Given the description of an element on the screen output the (x, y) to click on. 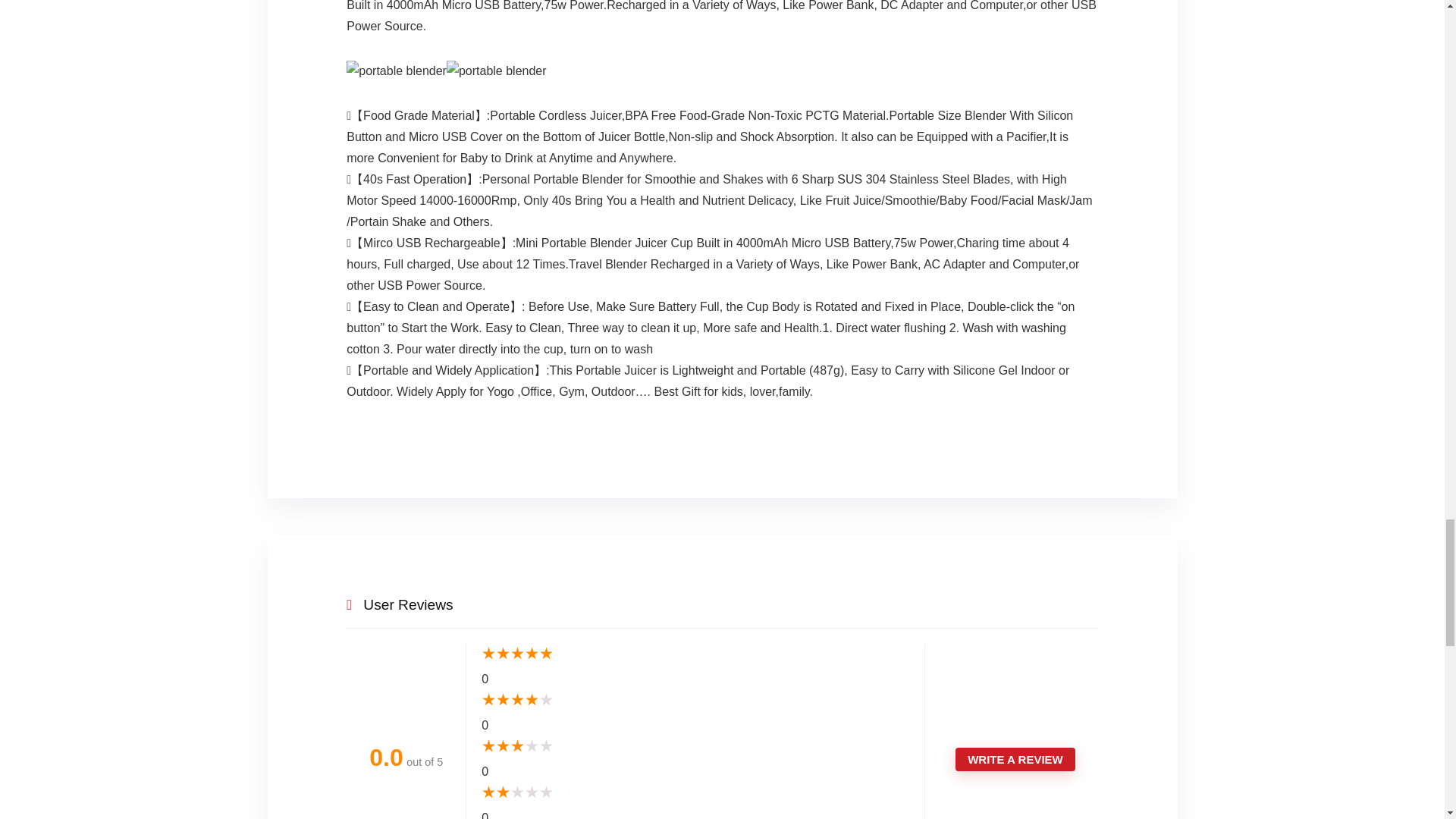
Rated 5 out of 5 (694, 654)
Rated 3 out of 5 (694, 746)
Rated 4 out of 5 (694, 700)
Rated 2 out of 5 (694, 792)
WRITE A REVIEW (1015, 759)
